Given the description of an element on the screen output the (x, y) to click on. 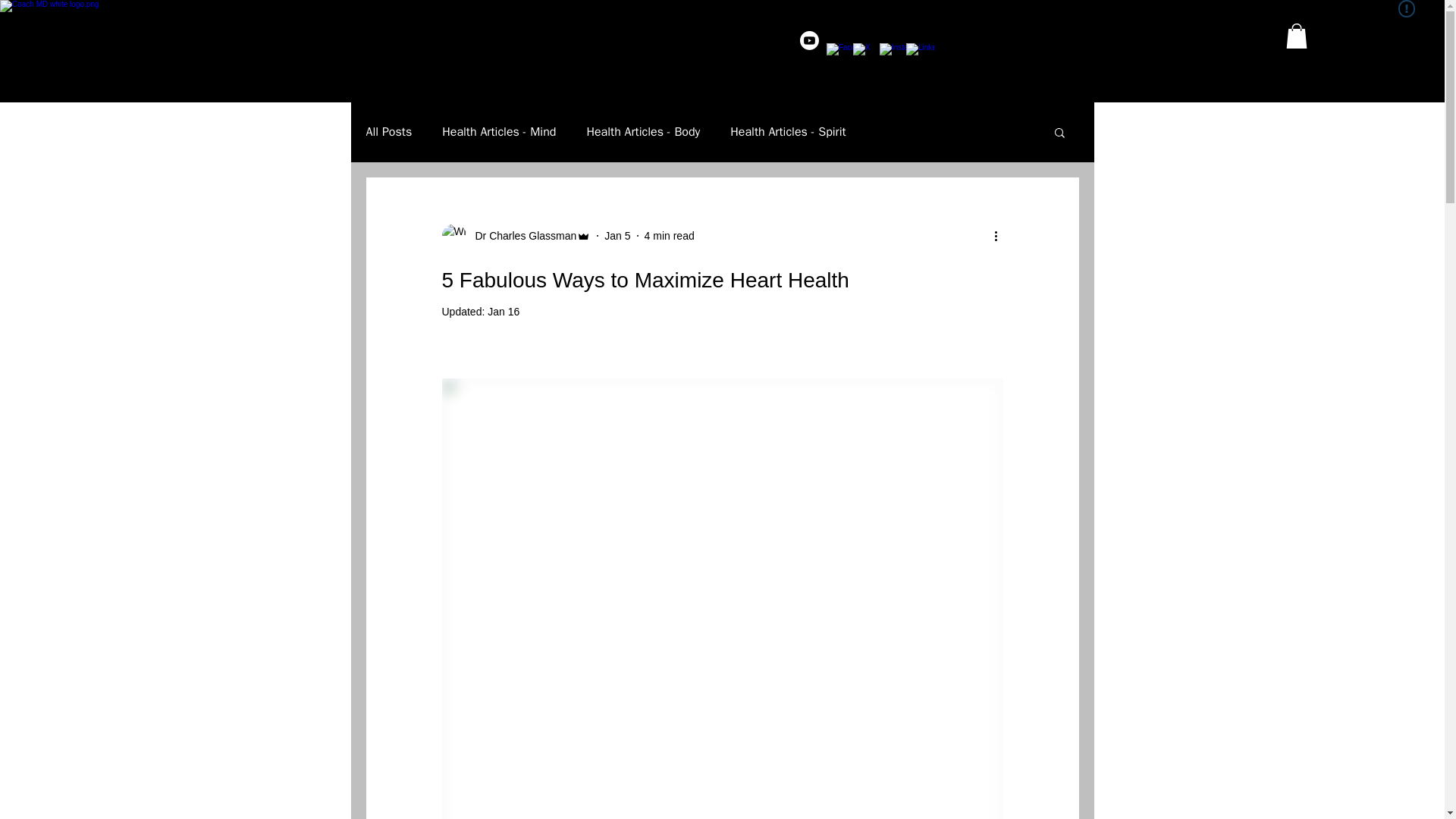
4 min read (669, 234)
Health Articles - Body (643, 132)
Dr Charles Glassman (520, 235)
Jan 16 (503, 311)
0 (1296, 35)
Dr Charles Glassman (516, 235)
Jan 5 (617, 234)
All Posts (388, 132)
Health Articles - Spirit (787, 132)
0 (1296, 36)
Health Articles - Mind (499, 132)
